Given the description of an element on the screen output the (x, y) to click on. 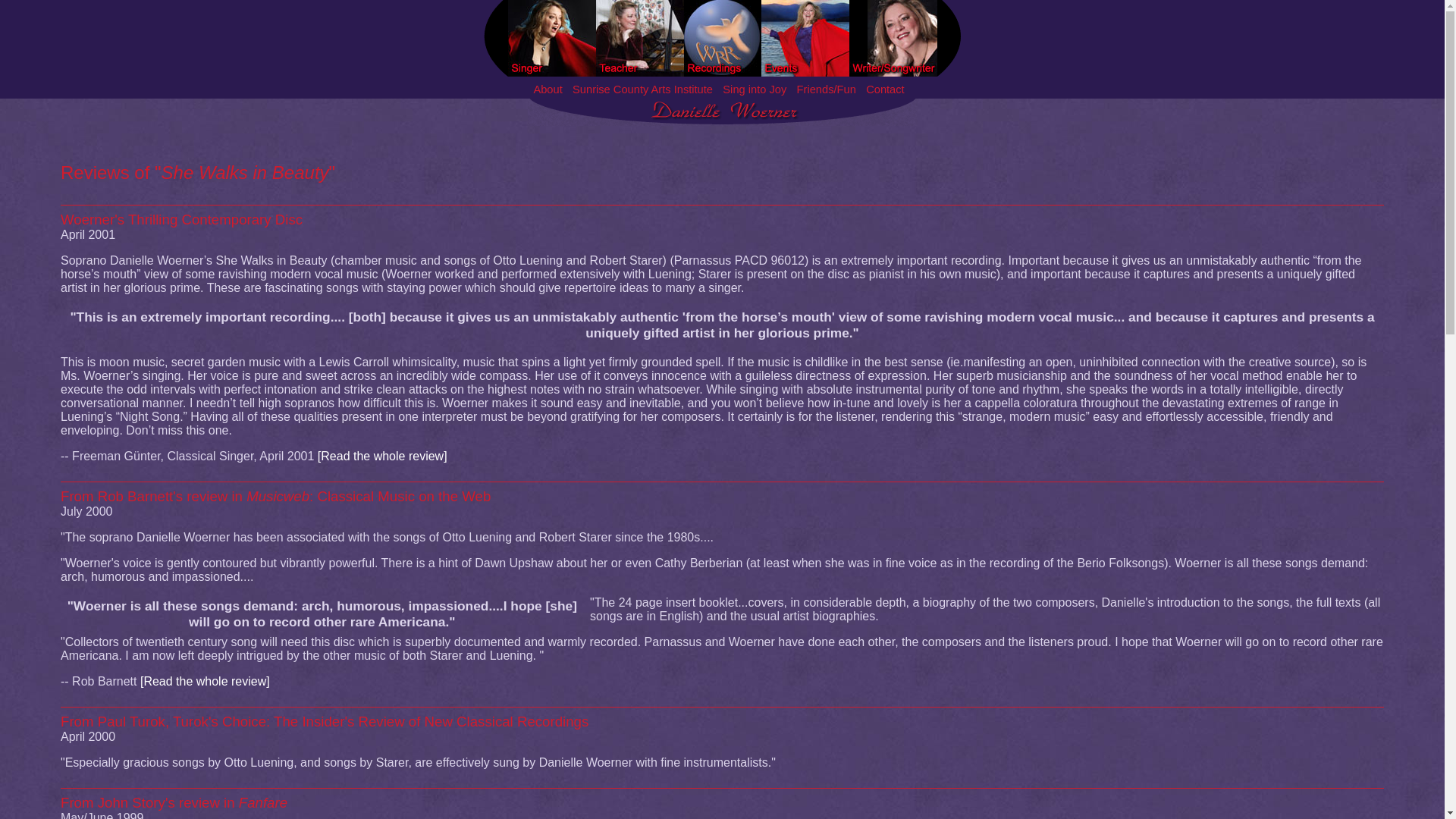
Sunrise County Arts Institute (642, 89)
Sing into Joy (754, 89)
About (547, 89)
Contact (885, 89)
